Given the description of an element on the screen output the (x, y) to click on. 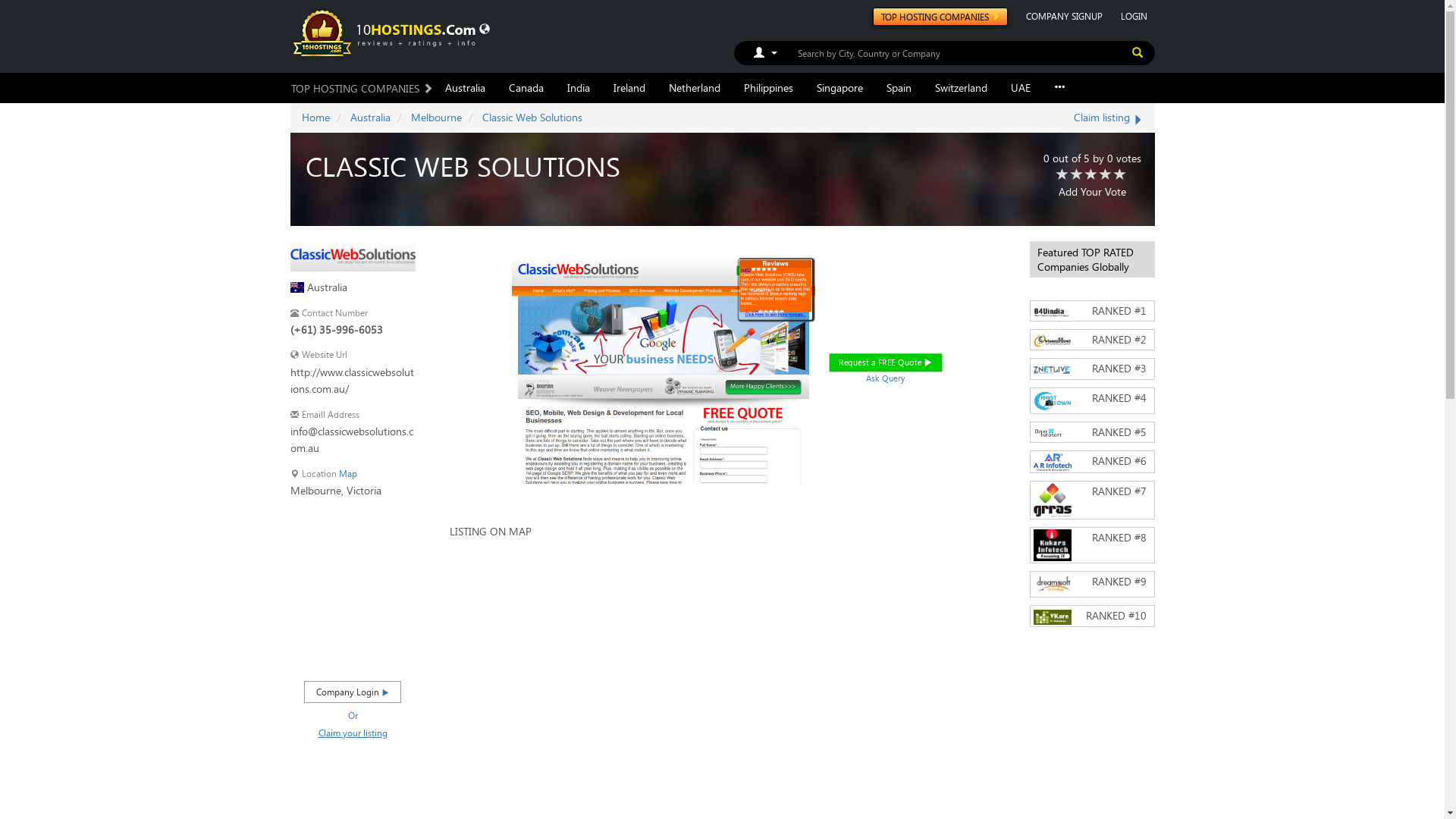
Give Good Rating to Classic Web Solutions Element type: hover (1090, 174)
info@classicwebsolutions.com.au Element type: text (351, 440)
LOGIN Element type: text (1133, 15)
Give Poor Rating to Classic Web Solutions Element type: hover (1061, 174)
RANKED #7 Element type: text (1091, 499)
VKare IT Solutions in Top 10 Best Hosting Company. Element type: hover (1051, 616)
Give Excellent Rating to Classic Web Solutions Element type: hover (1119, 174)
RANKED #5 Element type: text (1091, 431)
Melbourne Element type: text (436, 116)
UAE Element type: text (1020, 87)
http://www.classicwebsolutions.com.au/ Element type: text (351, 379)
(+61) 35-996-6053 Element type: text (351, 329)
Singapore Element type: text (839, 87)
TOP HOSTING COMPANIES Element type: text (939, 16)
Switzerland Element type: text (960, 87)
Esteem Host in Top 10 Best Hosting Company. Element type: hover (1051, 340)
Canada Element type: text (526, 87)
A R Infotech in Top 10 Best Hosting Company. Element type: hover (1051, 461)
Add Your Vote Element type: text (1092, 191)
RANKED #10 Element type: text (1091, 615)
Australia Element type: text (370, 116)
Host Town in Top 10 Best Hosting Company. Element type: hover (1051, 400)
Give Fair Rating to Classic Web Solutions Element type: hover (1076, 174)
B4UIndia Web Technologies in Top 10 Best Hosting Company. Element type: hover (1051, 311)
Kukars Infotech in Top 10 Best Hosting Company. Element type: hover (1051, 545)
RANKED #4 Element type: text (1091, 400)
RANKED #2 Element type: text (1091, 339)
India Element type: text (577, 87)
Ireland Element type: text (629, 87)
RANKED #8 Element type: text (1091, 545)
Netherland Element type: text (693, 87)
Australia Element type: text (464, 87)
RANKED #3 Element type: text (1091, 368)
Claim your listing Element type: text (352, 732)
Z Net Live in Top 10 Best Hosting Company. Element type: hover (1051, 369)
Spain Element type: text (898, 87)
Classic Web Solutions Element type: text (532, 116)
RANKED #1 Element type: text (1091, 310)
Give Very Good Rating to Classic Web Solutions Element type: hover (1105, 174)
GRRAS in Top 10 Best Hosting Company. Element type: hover (1051, 500)
RANKED #6 Element type: text (1091, 461)
Dzire Infosoft in Top 10 Best Hosting Company. Element type: hover (1051, 432)
Company Login Element type: text (352, 691)
10hostings.com Element type: hover (385, 32)
Visit Classic Web Solutions Element type: hover (351, 254)
Map Element type: text (347, 473)
Filter Option Element type: hover (758, 52)
Dreams Soft Technology in Top 10 Best Hosting Company. Element type: hover (1051, 584)
Search best seo companies Element type: hover (1136, 52)
Claim listing Element type: text (1108, 116)
Philippines Element type: text (768, 87)
Home Element type: text (315, 116)
Request a FREE Quote Element type: text (898, 365)
RANKED #9 Element type: text (1091, 584)
COMPANY SIGNUP Element type: text (1063, 15)
Ask Query Element type: text (890, 379)
